Given the description of an element on the screen output the (x, y) to click on. 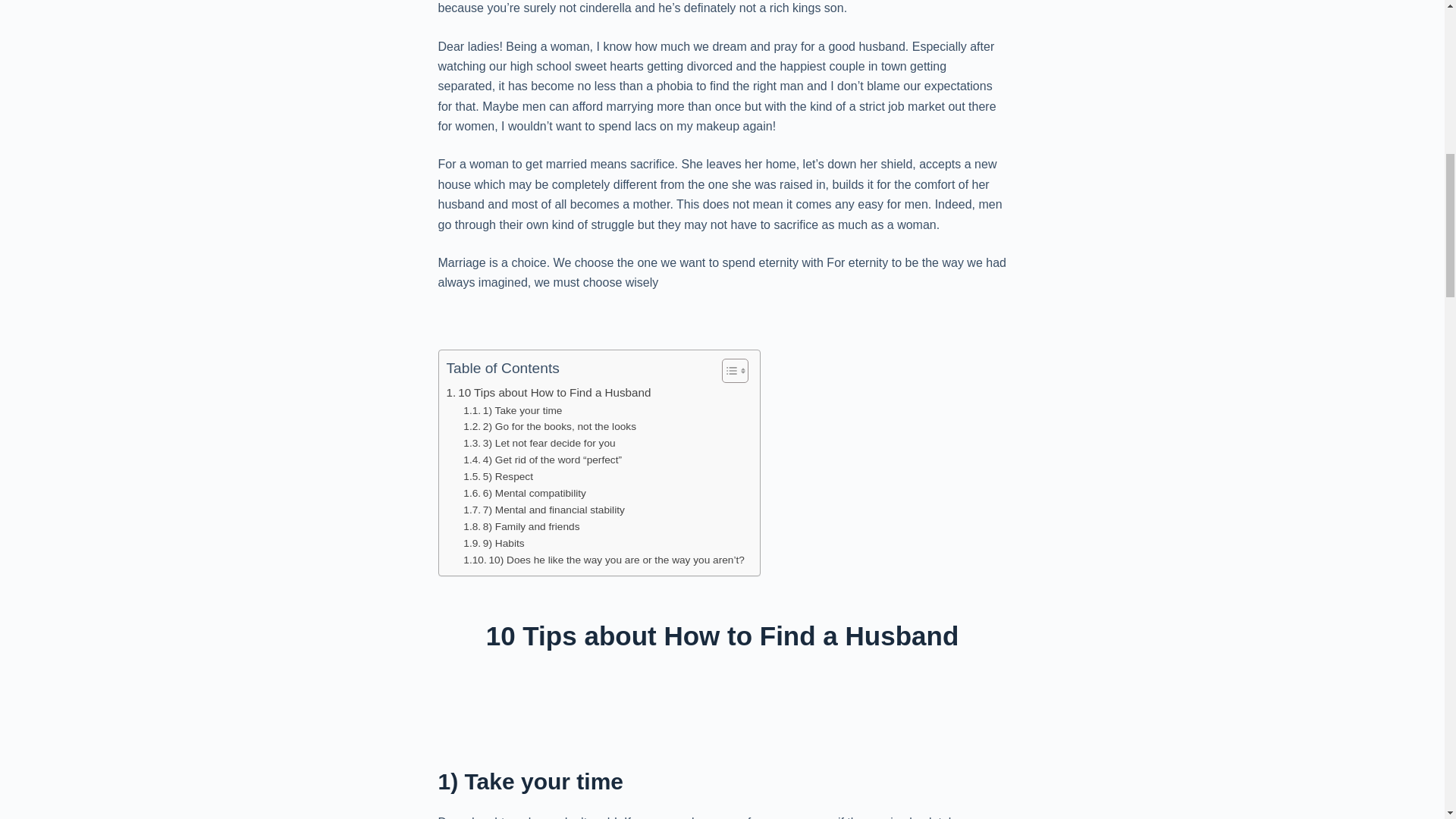
10 Tips about How to Find a Husband (547, 393)
10 Tips about How to Find a Husband (547, 393)
